Given the description of an element on the screen output the (x, y) to click on. 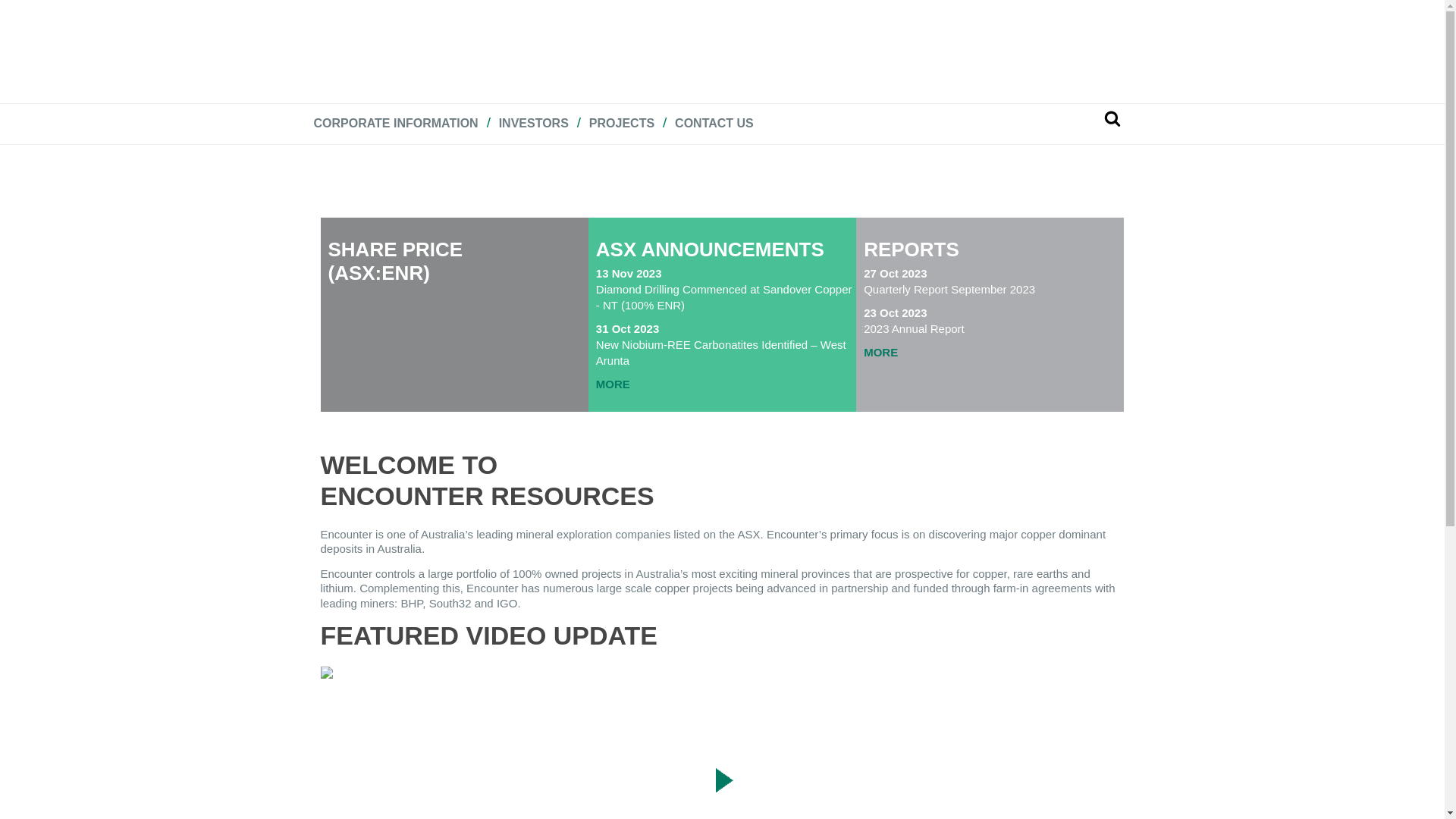
2023 Annual Report Element type: text (993, 328)
CORPORATE INFORMATION Element type: text (395, 123)
MORE Element type: text (726, 384)
MORE Element type: text (993, 352)
Quarterly Report September 2023 Element type: text (993, 289)
PROJECTS Element type: text (621, 123)
CONTACT US Element type: text (714, 123)
INVESTORS Element type: text (533, 123)
